Given the description of an element on the screen output the (x, y) to click on. 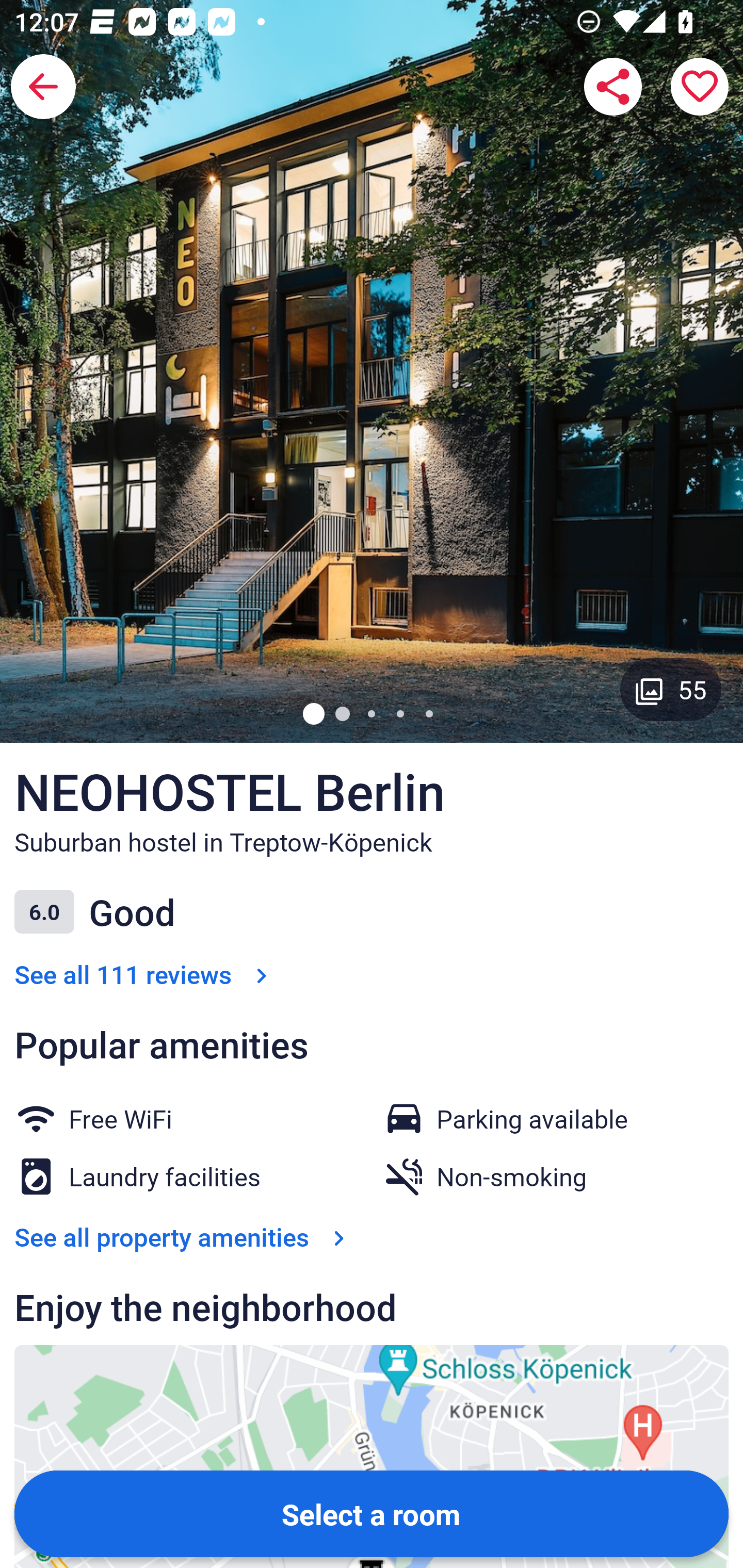
Back (43, 86)
Save property to a trip (699, 86)
Share NEOHOSTEL Berlin (612, 87)
Gallery button with 55 images (670, 689)
See all 111 reviews See all 111 reviews Link (144, 974)
See all property amenities (183, 1236)
Select a room Button Select a room (371, 1513)
